Given the description of an element on the screen output the (x, y) to click on. 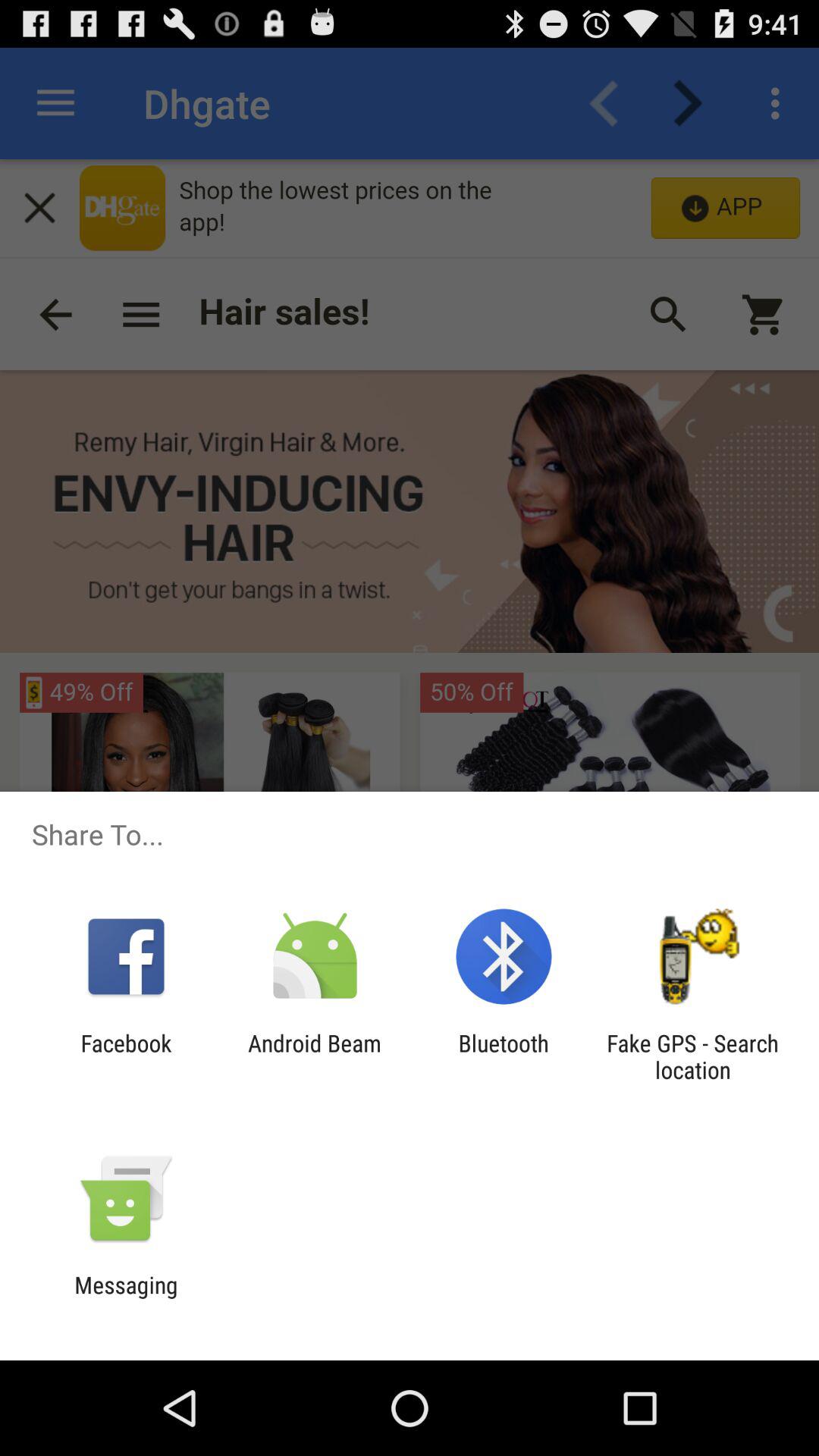
press android beam icon (314, 1056)
